Given the description of an element on the screen output the (x, y) to click on. 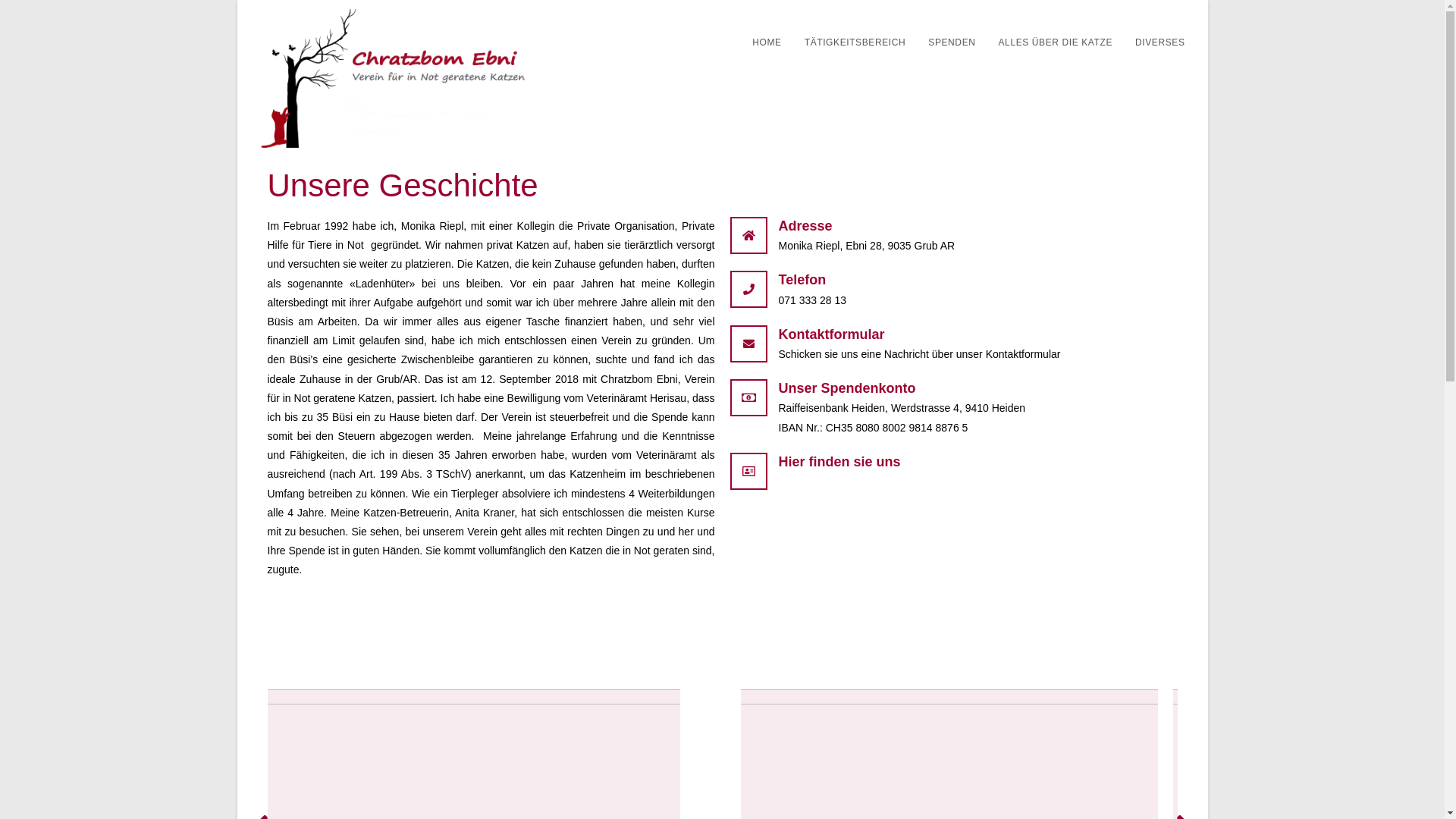
Kontaktformular Element type: text (831, 334)
HOME Element type: text (766, 42)
DIVERSES Element type: text (1159, 42)
SPENDEN Element type: text (951, 42)
Chratzbom Ebni Ebni 28 9053 Grub AR Element type: hover (952, 585)
